Given the description of an element on the screen output the (x, y) to click on. 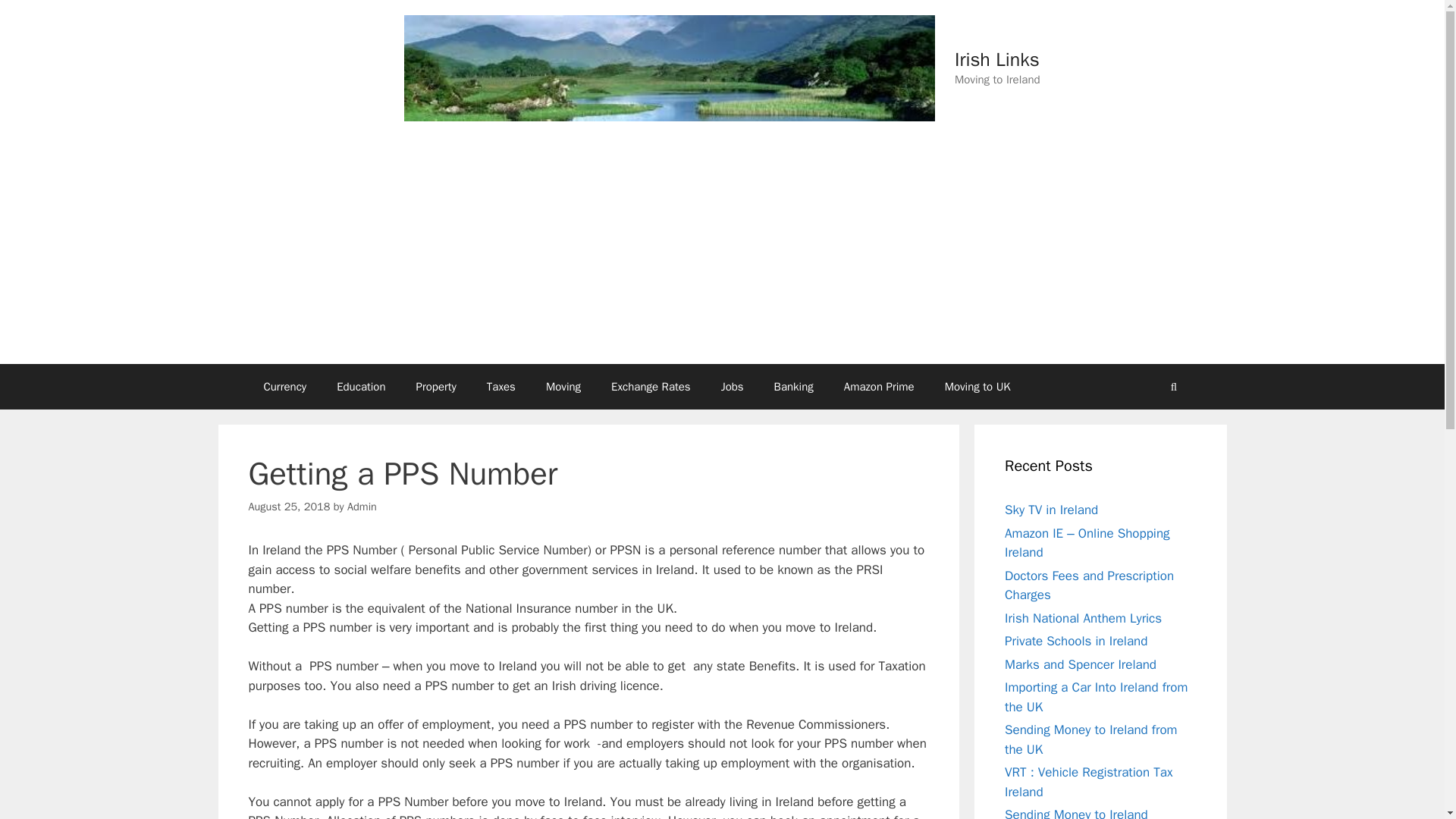
Currency (284, 386)
Moving to UK (978, 386)
Exchange Rates (650, 386)
View all posts by Admin (362, 506)
Doctors Fees and Prescription Charges (1088, 584)
Sky TV in Ireland (1050, 509)
Importing a Car Into Ireland from the UK (1096, 696)
Education (360, 386)
Jobs (732, 386)
Irish Links (997, 59)
Property (436, 386)
Sending Money to Ireland from the UK (1090, 739)
Sending Money to Ireland (1076, 812)
VRT : Vehicle Registration Tax Ireland (1088, 782)
Admin (362, 506)
